Given the description of an element on the screen output the (x, y) to click on. 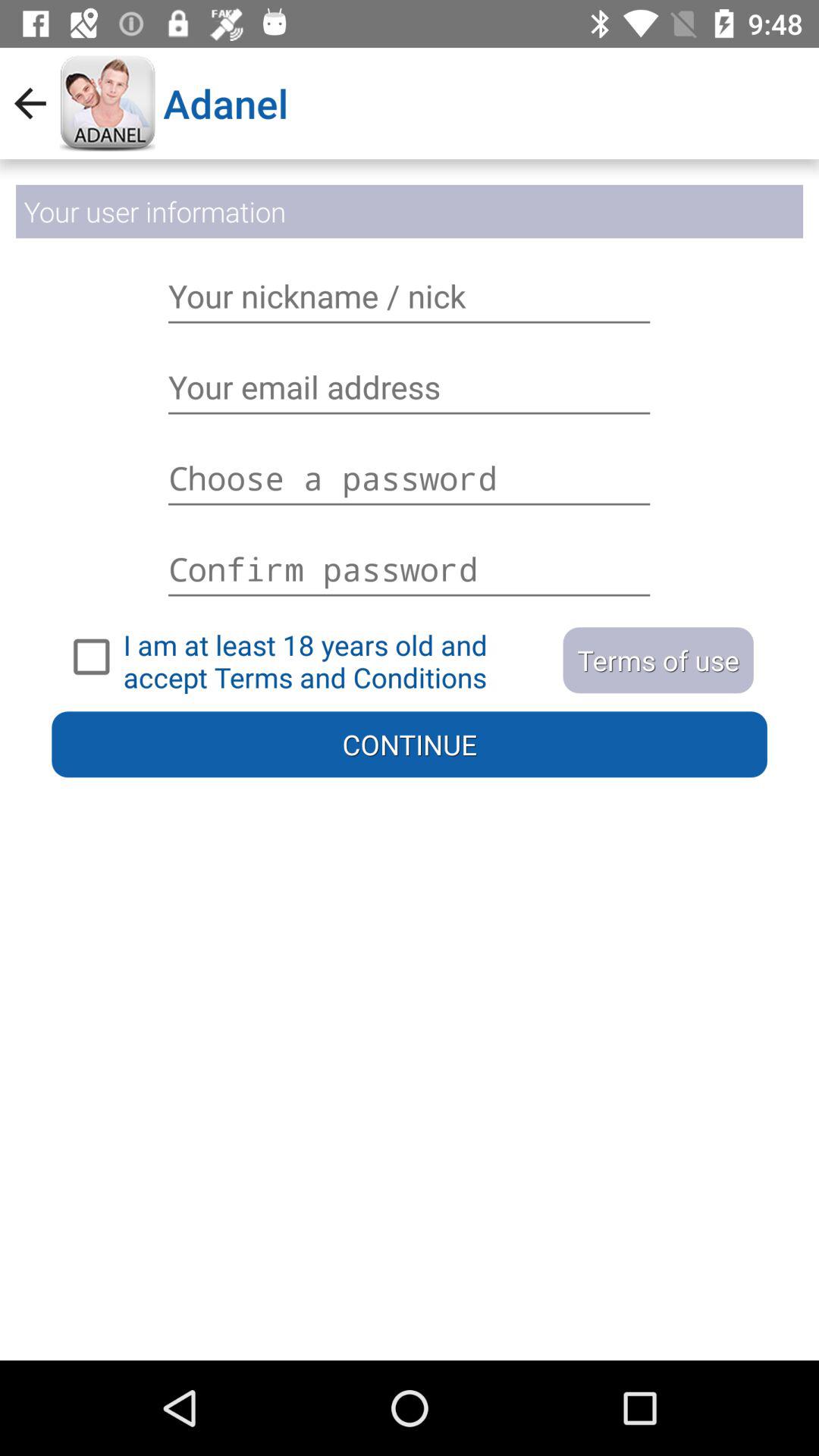
select the text terms of use which is above continue (658, 659)
select the text box containing name your nickname  nick (409, 296)
go to confirm password (409, 560)
select choose a password field (409, 478)
check the box beside terms of use (308, 656)
select continue button on the page (409, 744)
